Given the description of an element on the screen output the (x, y) to click on. 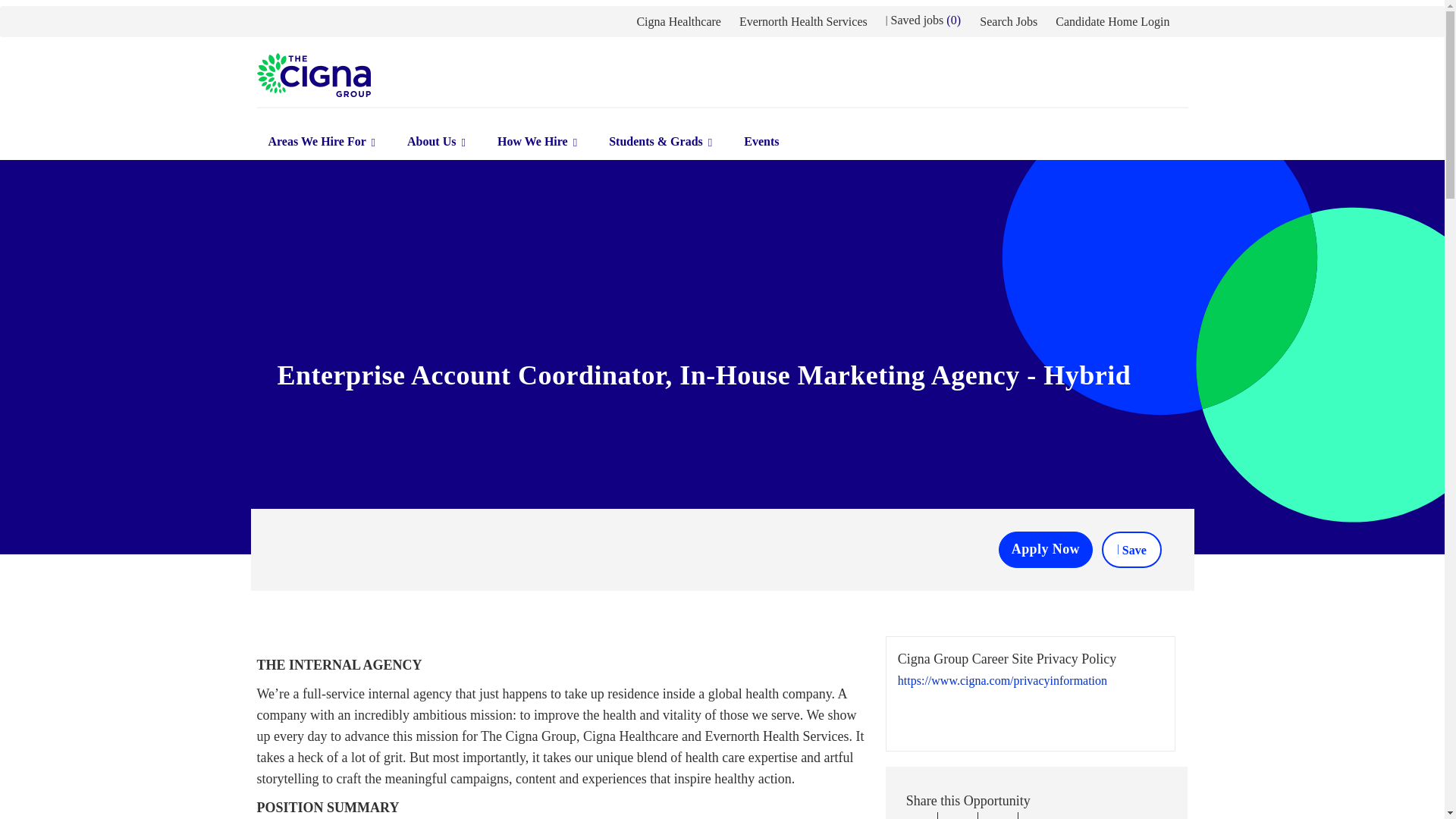
Cigna Healthcare (678, 21)
Candidate Home Login (1112, 21)
About Us (436, 141)
header logo (312, 75)
Click to view The Cigna Group Careers Site Privacy Policy (1002, 692)
Apply Now (1045, 549)
Search Jobs (1007, 21)
Evernorth Health Services (803, 21)
Areas We Hire For (321, 141)
